Given the description of an element on the screen output the (x, y) to click on. 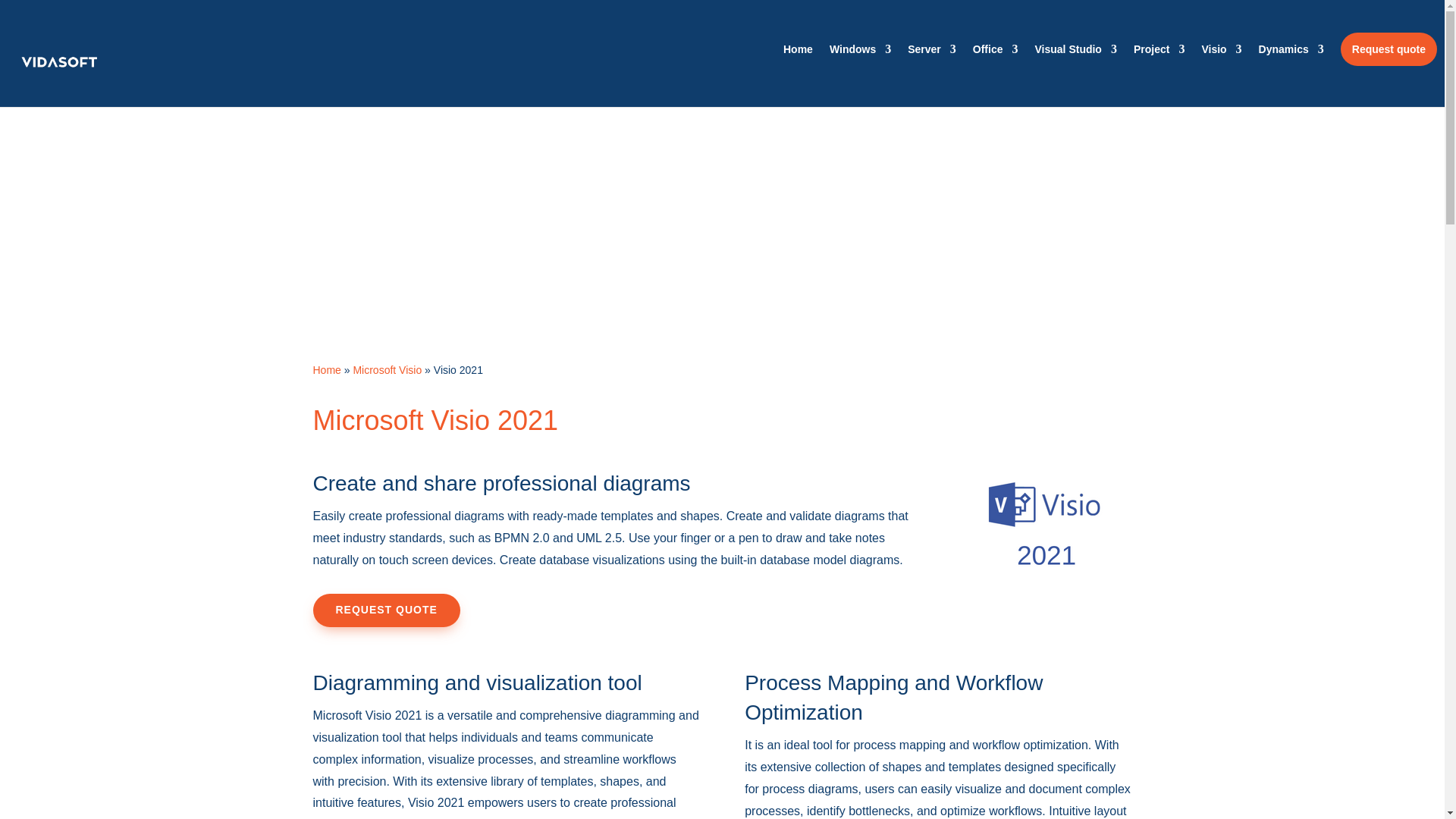
Server (931, 55)
Visio 2021 (59, 82)
Windows (1045, 525)
Home (860, 55)
